Given the description of an element on the screen output the (x, y) to click on. 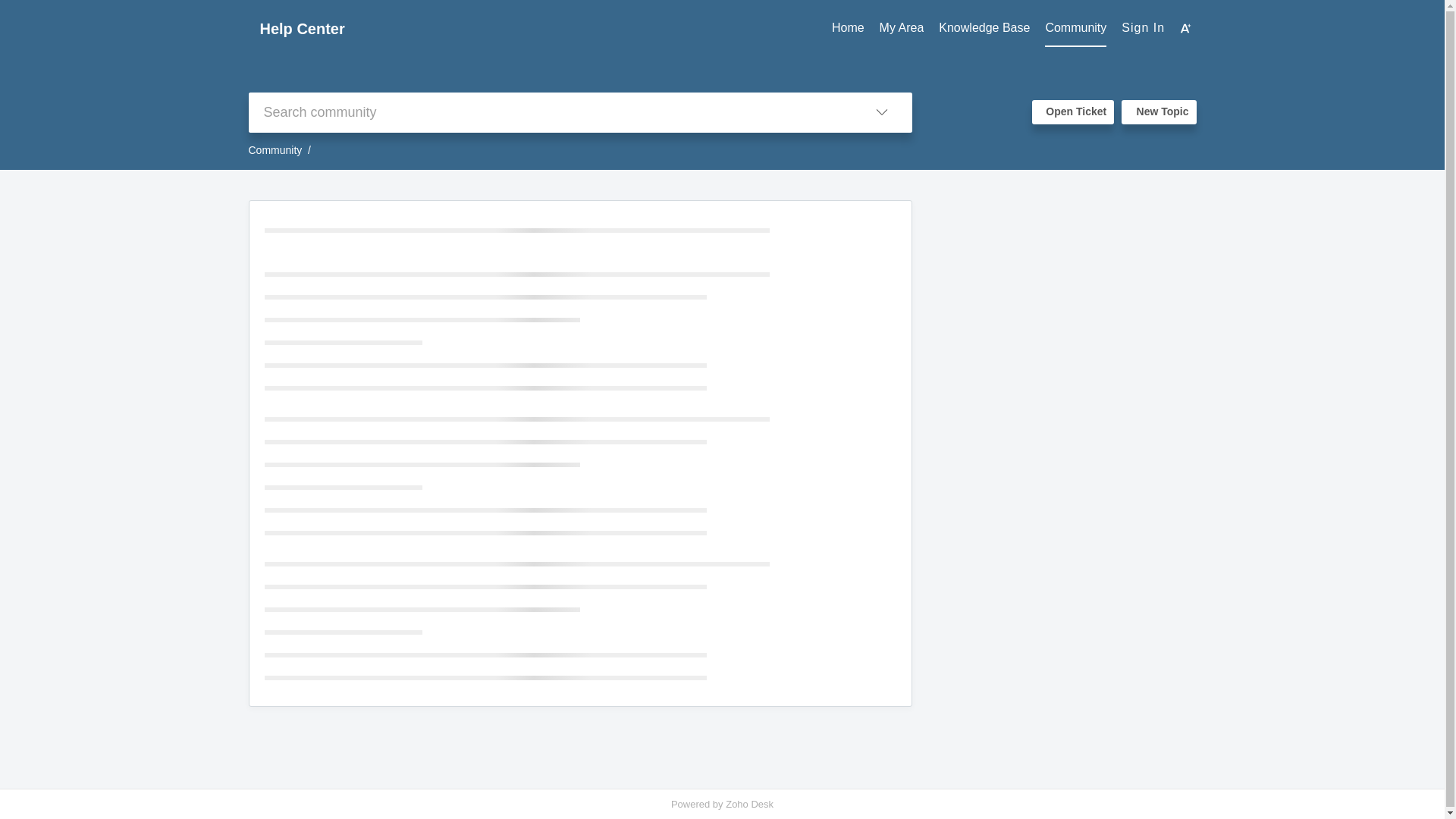
My Area (901, 27)
Community (1075, 27)
Home (847, 27)
Community (275, 150)
My Area (901, 27)
Knowledge Base (984, 27)
Zoho Desk (749, 803)
Community (1075, 27)
Home (847, 27)
Sign In (1142, 27)
Knowledge Base (984, 27)
